Given the description of an element on the screen output the (x, y) to click on. 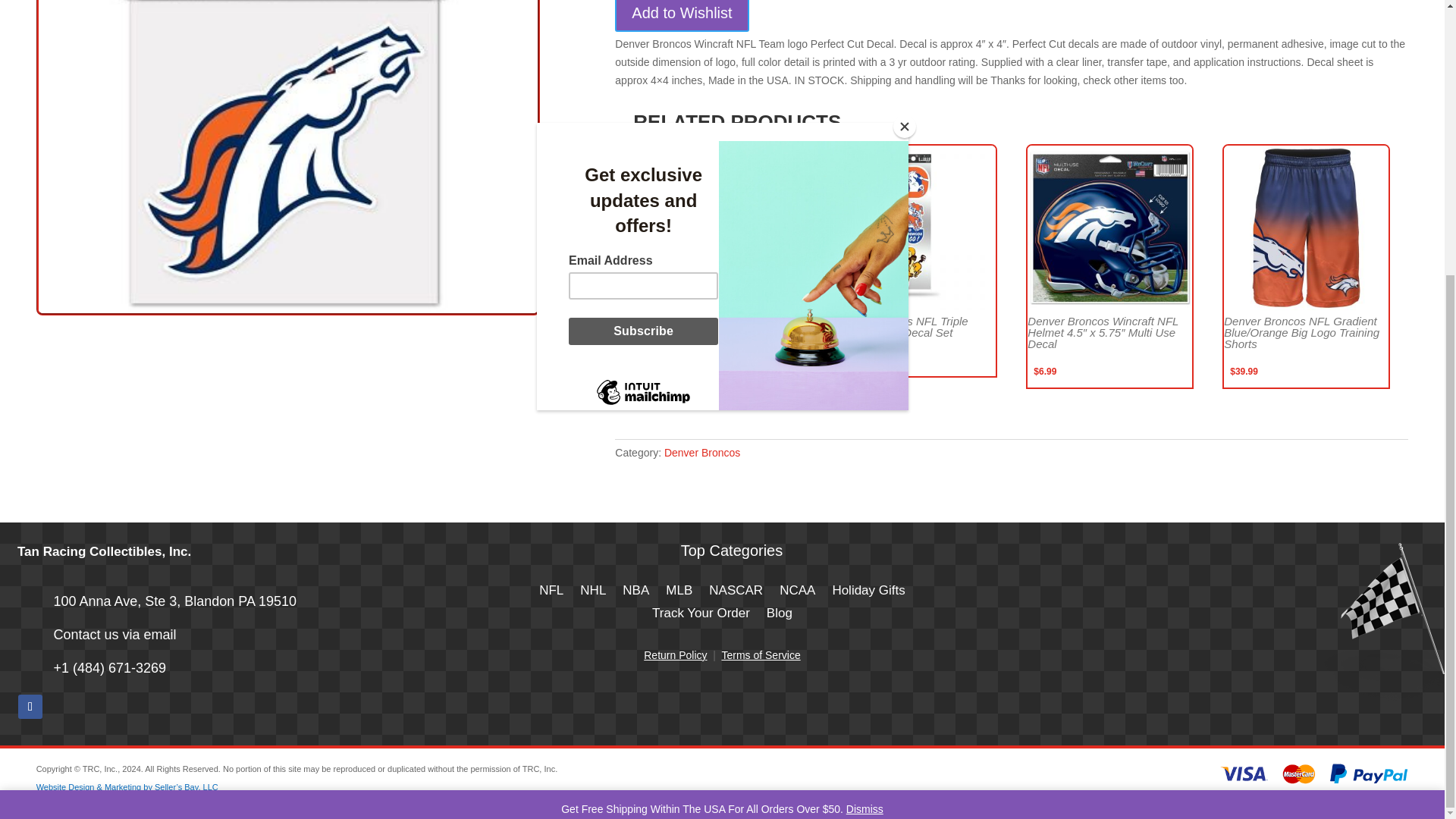
paypal (1313, 774)
Follow on Facebook (29, 706)
